Given the description of an element on the screen output the (x, y) to click on. 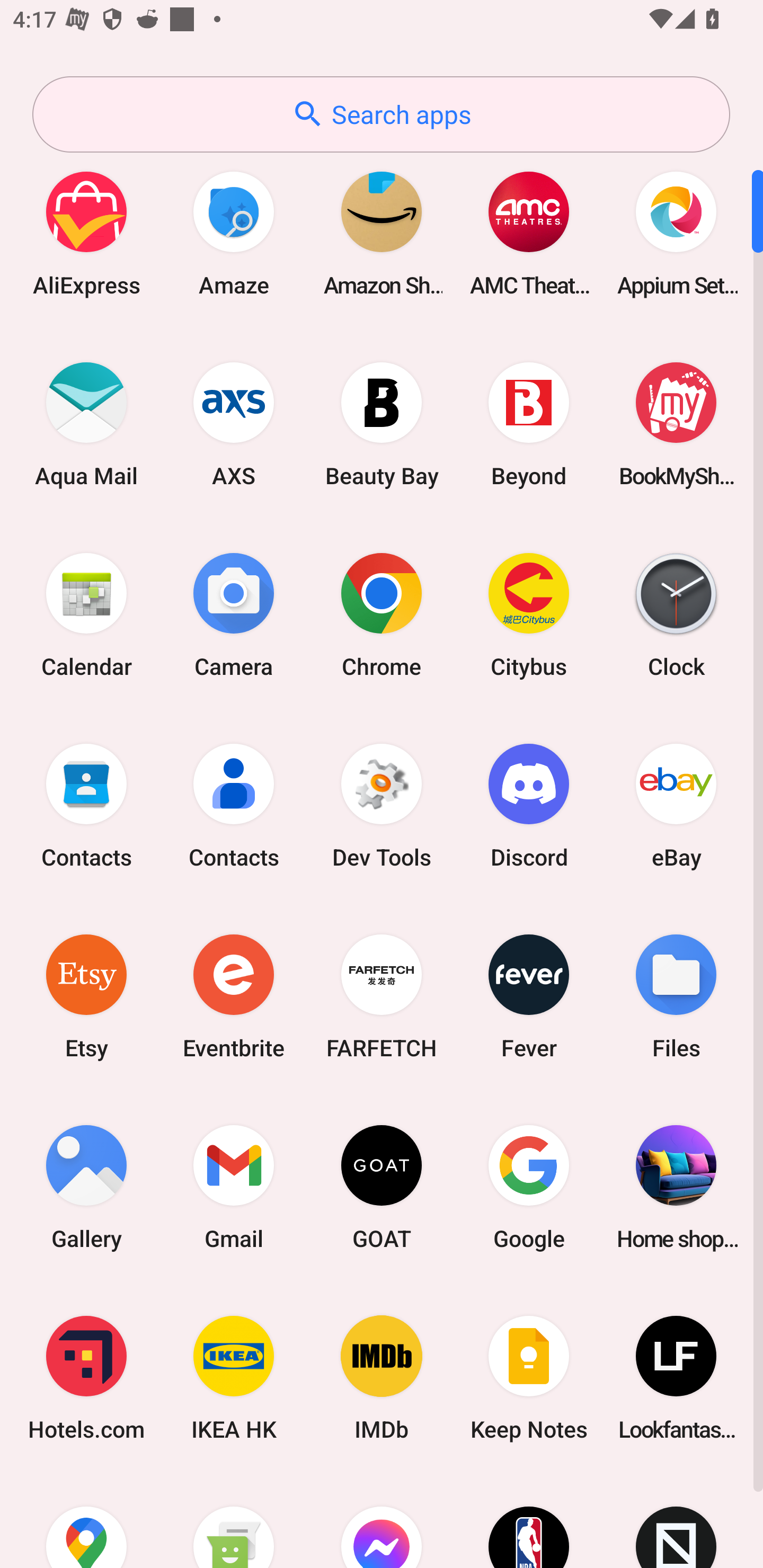
  Search apps (381, 114)
AliExpress (86, 233)
Amaze (233, 233)
Amazon Shopping (381, 233)
AMC Theatres (528, 233)
Appium Settings (676, 233)
Aqua Mail (86, 424)
AXS (233, 424)
Beauty Bay (381, 424)
Beyond (528, 424)
BookMyShow (676, 424)
Calendar (86, 614)
Camera (233, 614)
Chrome (381, 614)
Citybus (528, 614)
Clock (676, 614)
Contacts (86, 805)
Contacts (233, 805)
Dev Tools (381, 805)
Discord (528, 805)
eBay (676, 805)
Etsy (86, 996)
Eventbrite (233, 996)
FARFETCH (381, 996)
Fever (528, 996)
Files (676, 996)
Gallery (86, 1186)
Gmail (233, 1186)
GOAT (381, 1186)
Google (528, 1186)
Home shopping (676, 1186)
Hotels.com (86, 1377)
IKEA HK (233, 1377)
IMDb (381, 1377)
Keep Notes (528, 1377)
Lookfantastic (676, 1377)
